Given the description of an element on the screen output the (x, y) to click on. 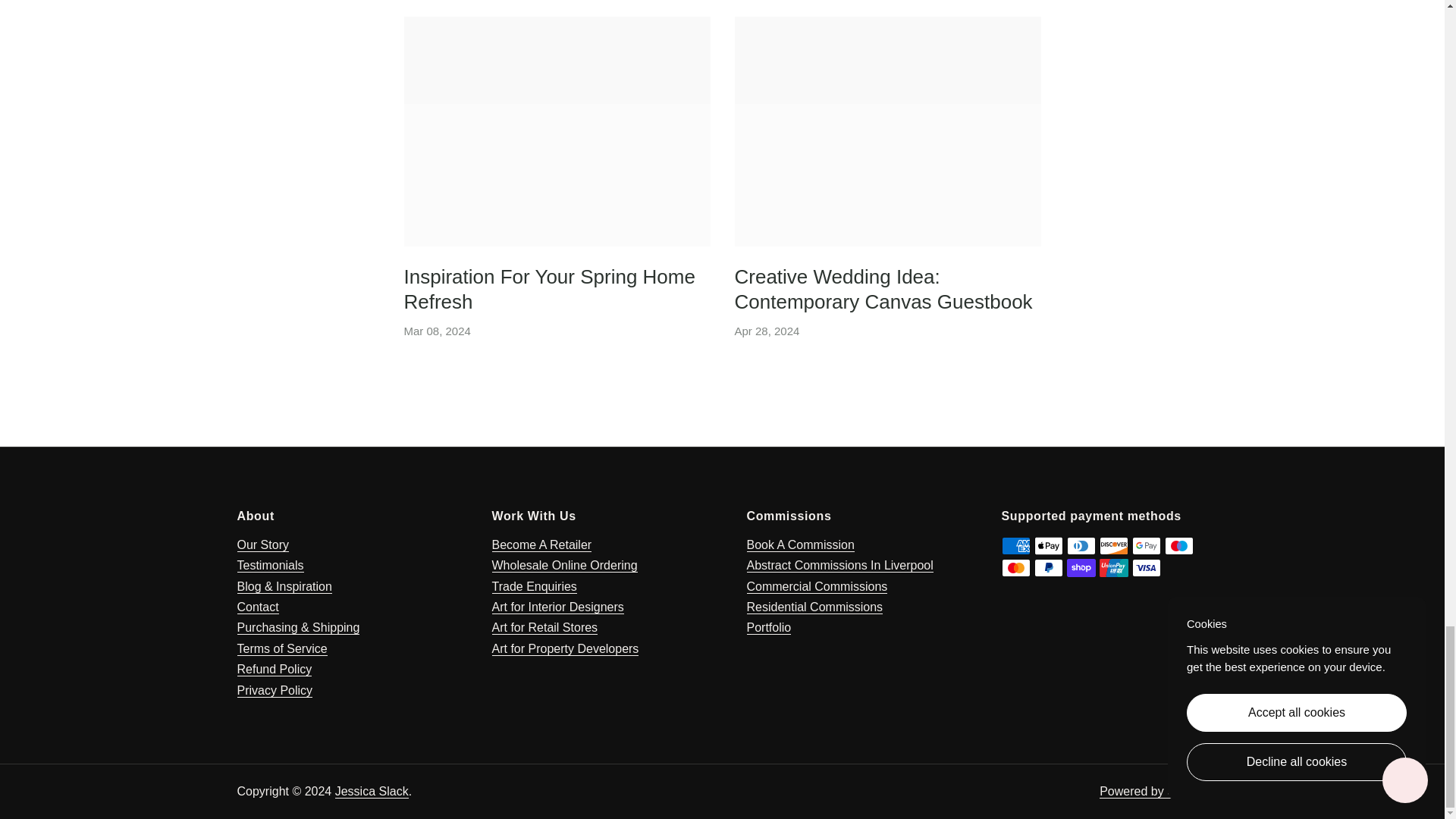
Creative Wedding Idea: Contemporary Canvas Guestbook (882, 291)
Inspiration For Your Spring Home Refresh (548, 291)
Inspiration For Your Spring Home Refresh (556, 131)
Creative Wedding Idea: Contemporary Canvas Guestbook (887, 131)
